Given the description of an element on the screen output the (x, y) to click on. 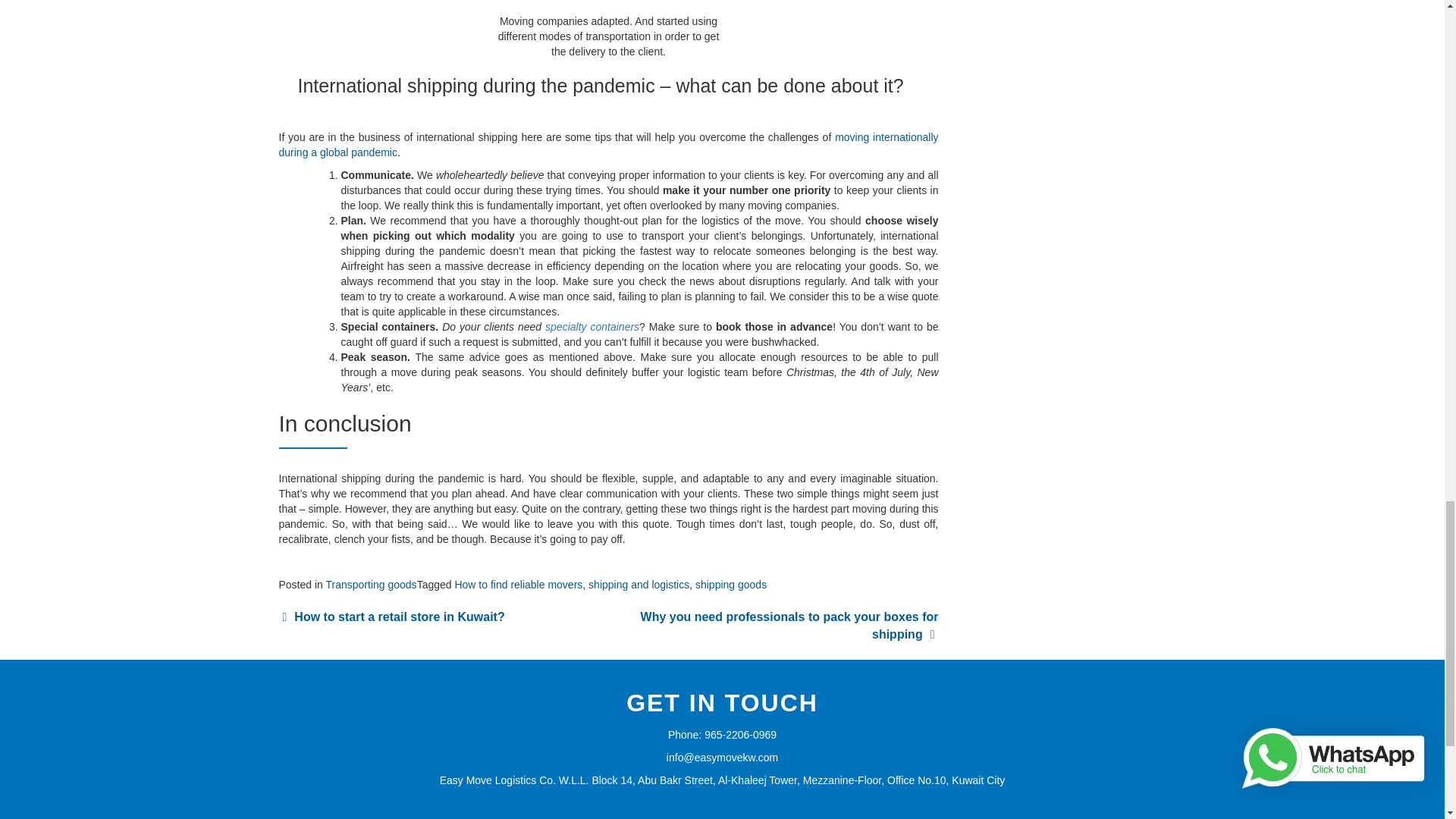
specialty containers (591, 326)
moving internationally during a global pandemic (609, 144)
